Given the description of an element on the screen output the (x, y) to click on. 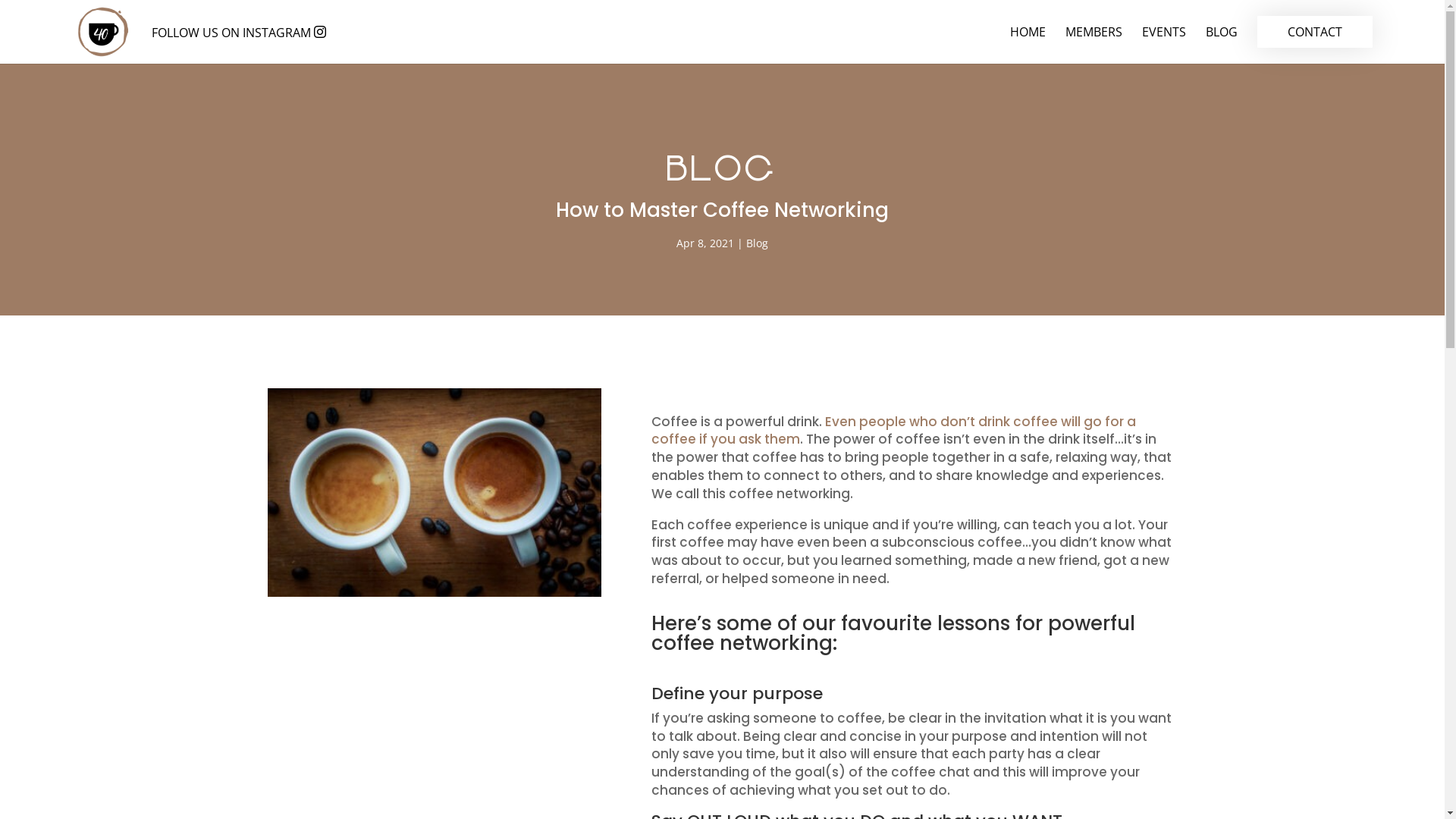
post3 Element type: hover (433, 492)
EVENTS Element type: text (1164, 44)
Blog Element type: text (757, 242)
MEMBERS Element type: text (1093, 44)
HOME Element type: text (1027, 44)
BLOG Element type: text (1221, 44)
CONTACT Element type: text (1314, 44)
